Given the description of an element on the screen output the (x, y) to click on. 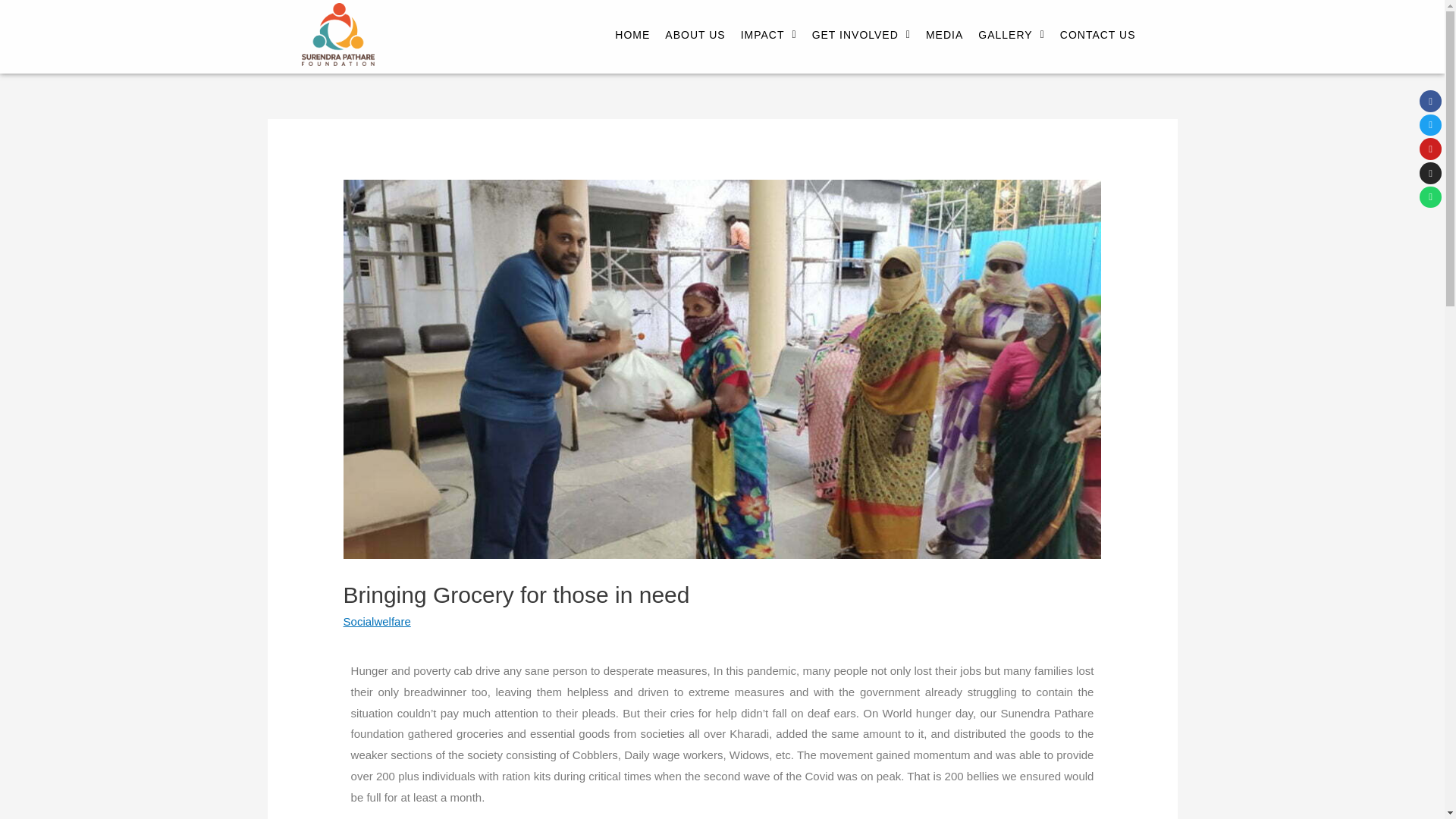
CONTACT US (1097, 22)
GET INVOLVED (861, 10)
GALLERY (1011, 17)
IMPACT (769, 2)
MEDIA (944, 16)
Socialwelfare (376, 621)
